Given the description of an element on the screen output the (x, y) to click on. 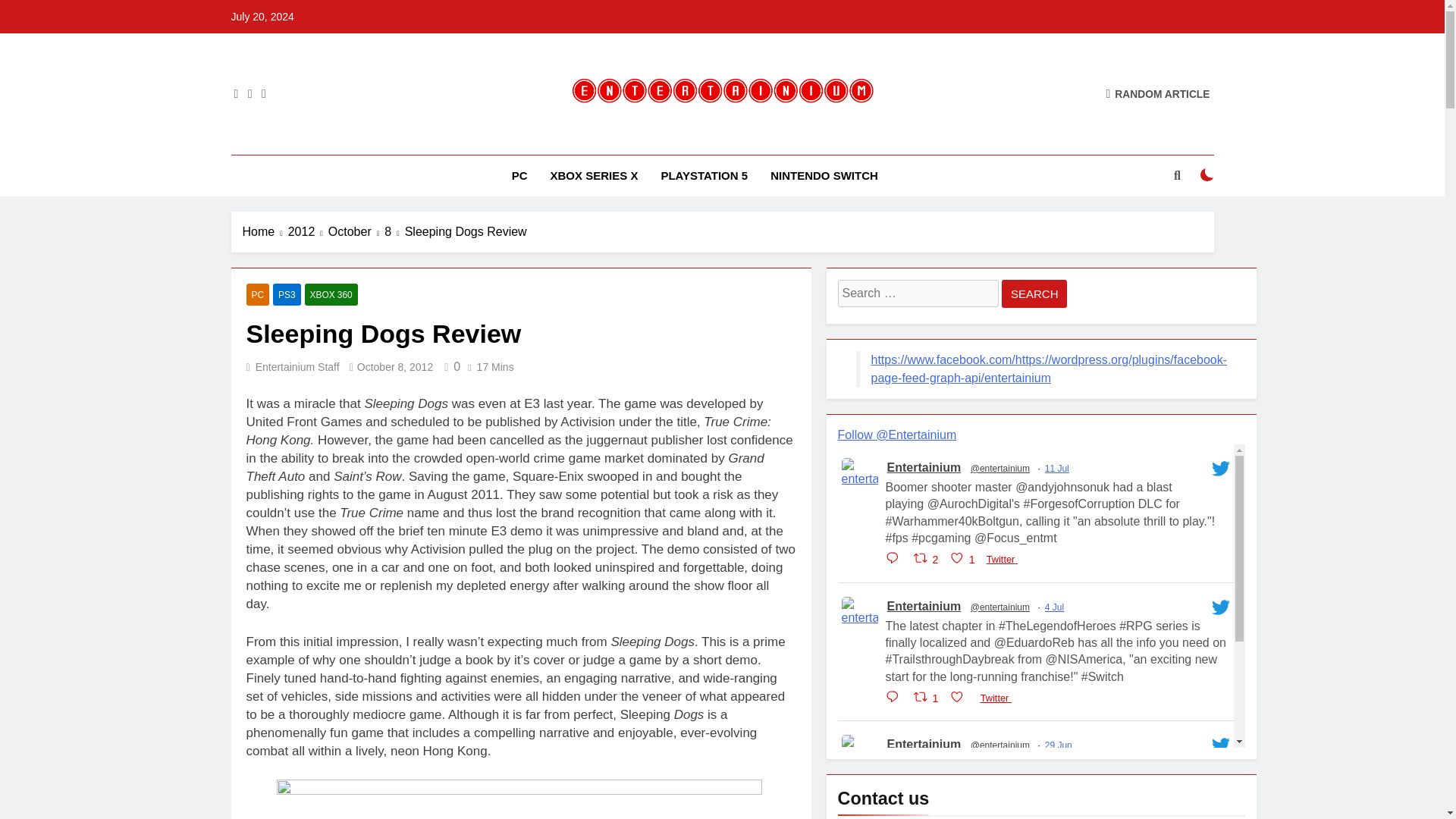
XBOX SERIES X (593, 175)
XBOX 360 (331, 294)
8 (394, 231)
on (1206, 174)
PC (519, 175)
PLAYSTATION 5 (703, 175)
Entertainium Staff (297, 367)
Search (1034, 293)
October (356, 231)
October 8, 2012 (394, 367)
2012 (308, 231)
Search (1034, 293)
Home (265, 231)
Sleeping-Dogs-41 (518, 799)
RANDOM ARTICLE (1157, 92)
